Given the description of an element on the screen output the (x, y) to click on. 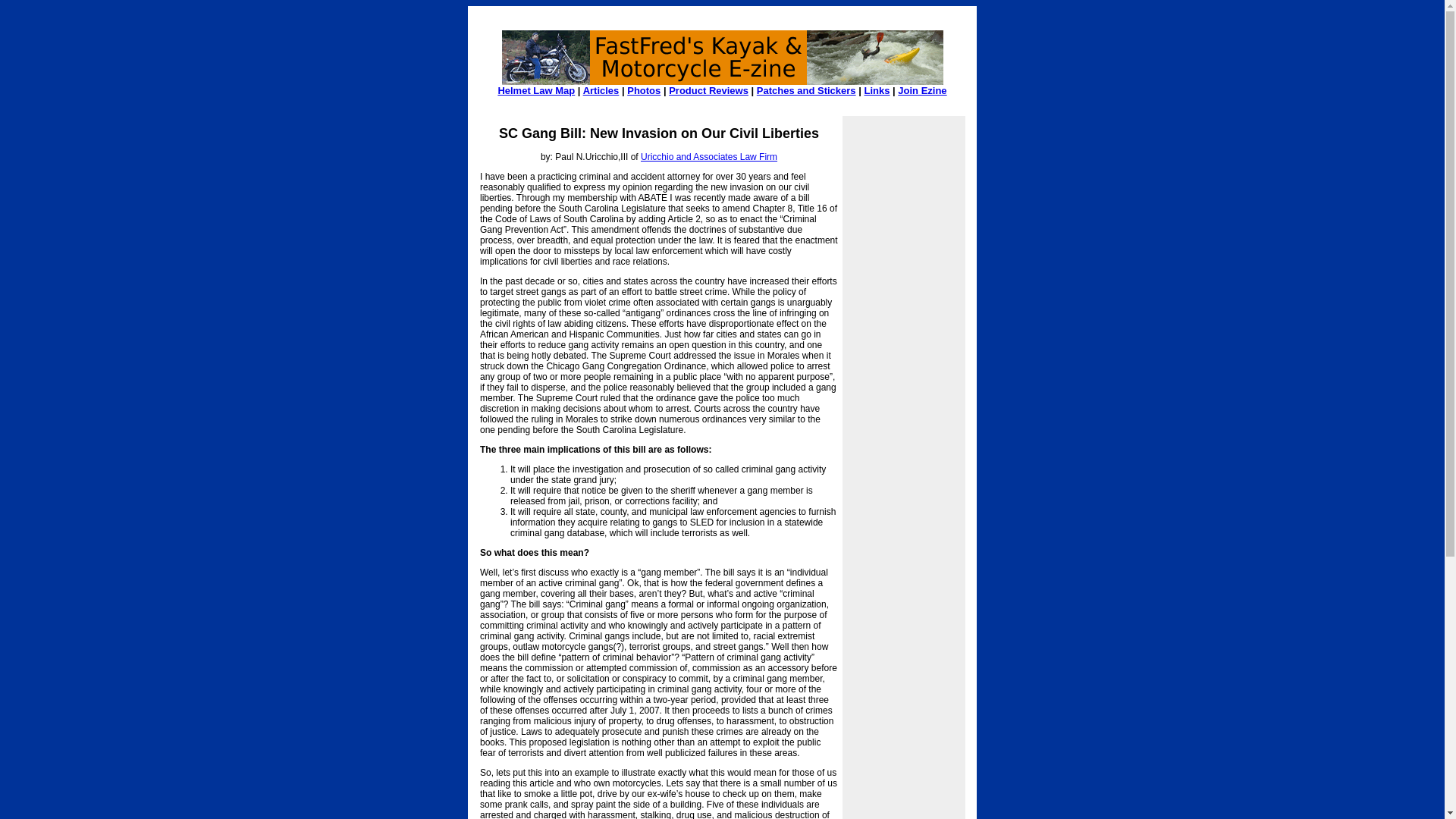
Articles (601, 90)
Product Reviews (708, 90)
Photos (644, 90)
Uricchio and Associates Law Firm (708, 156)
Join Ezine (922, 90)
Links (876, 90)
Helmet Law Map (536, 90)
Patches and Stickers (806, 90)
